Given the description of an element on the screen output the (x, y) to click on. 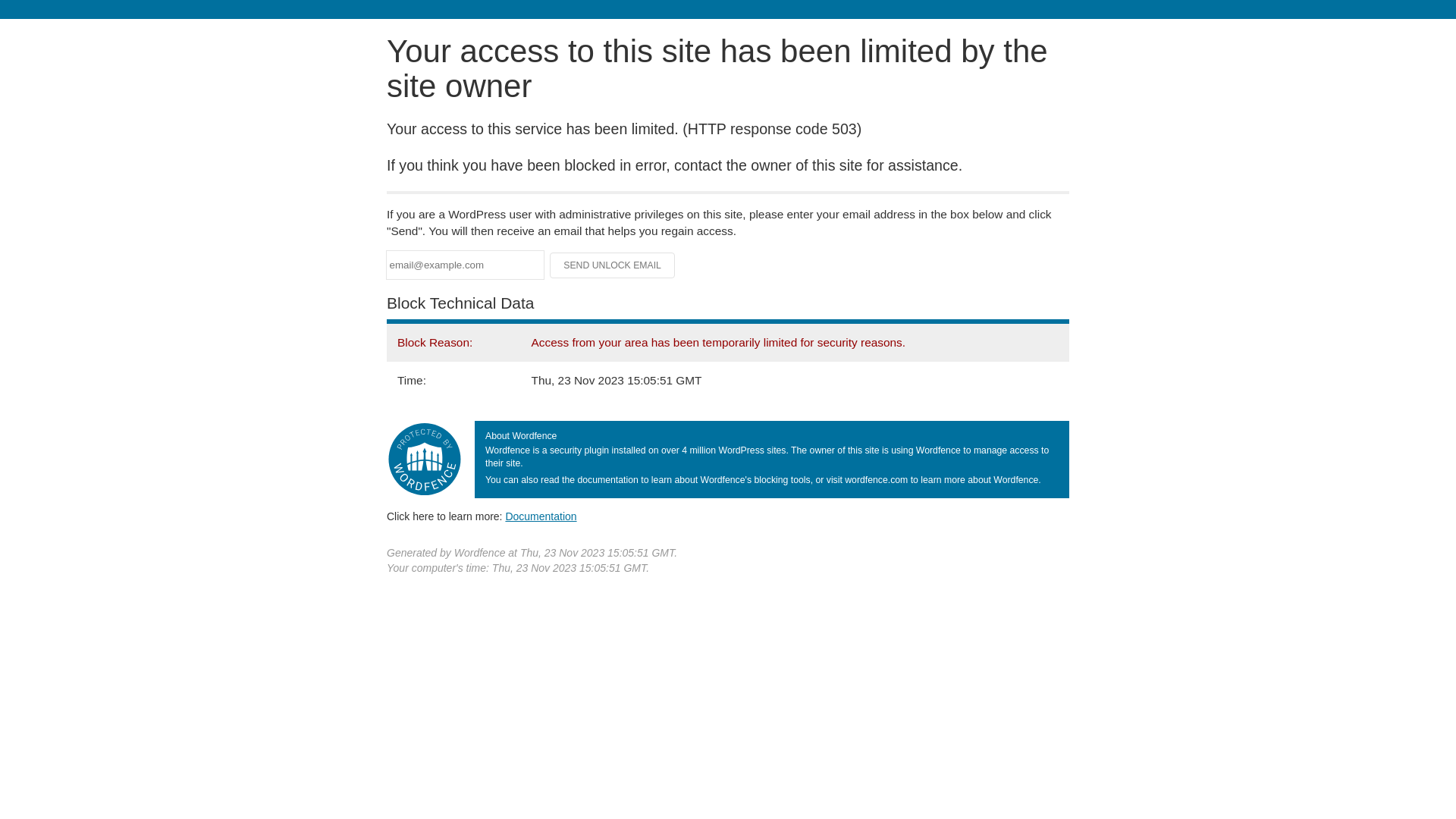
Send Unlock Email Element type: text (612, 265)
Documentation Element type: text (540, 516)
